Given the description of an element on the screen output the (x, y) to click on. 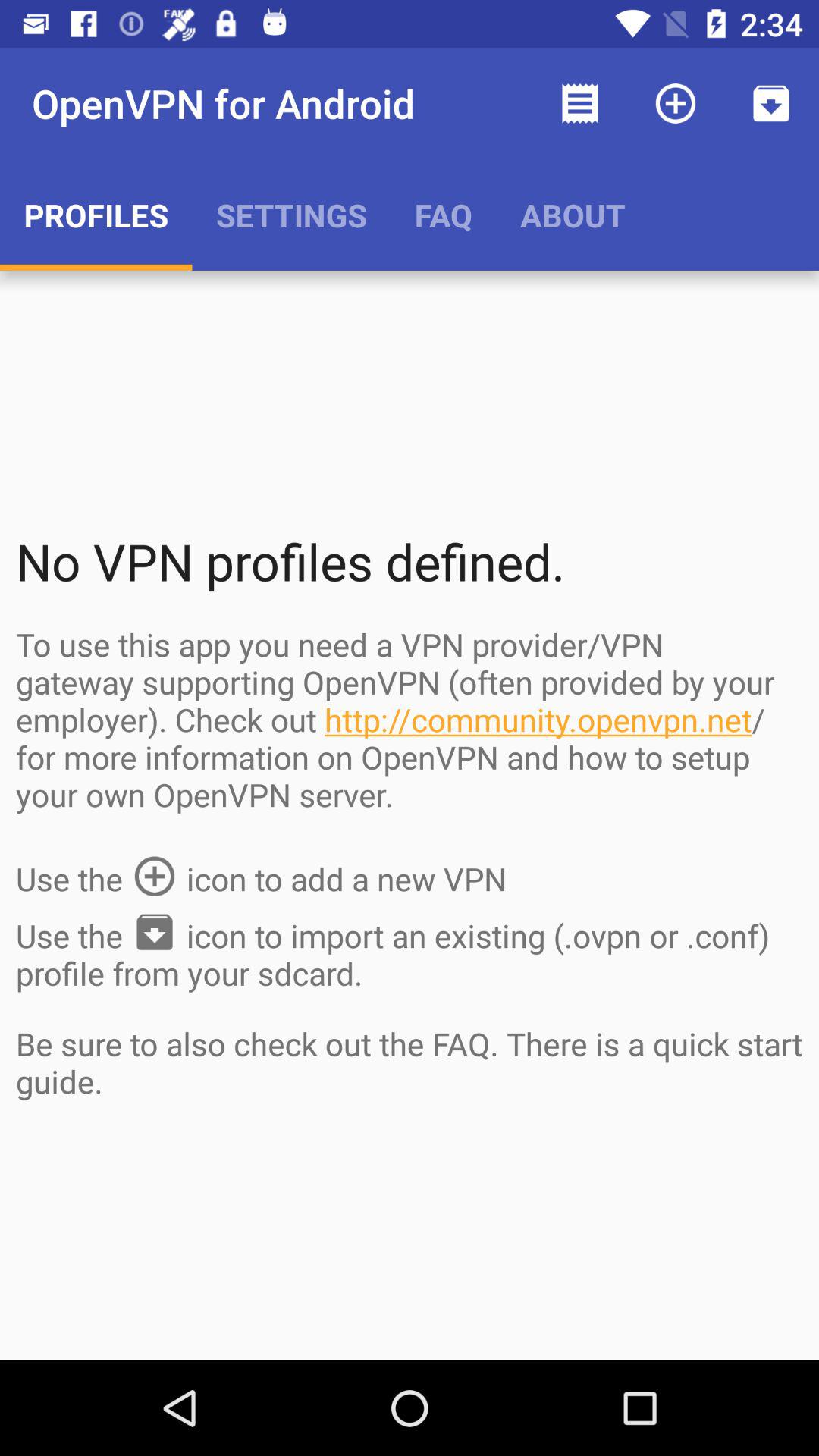
press the item above the no vpn profiles icon (572, 214)
